Given the description of an element on the screen output the (x, y) to click on. 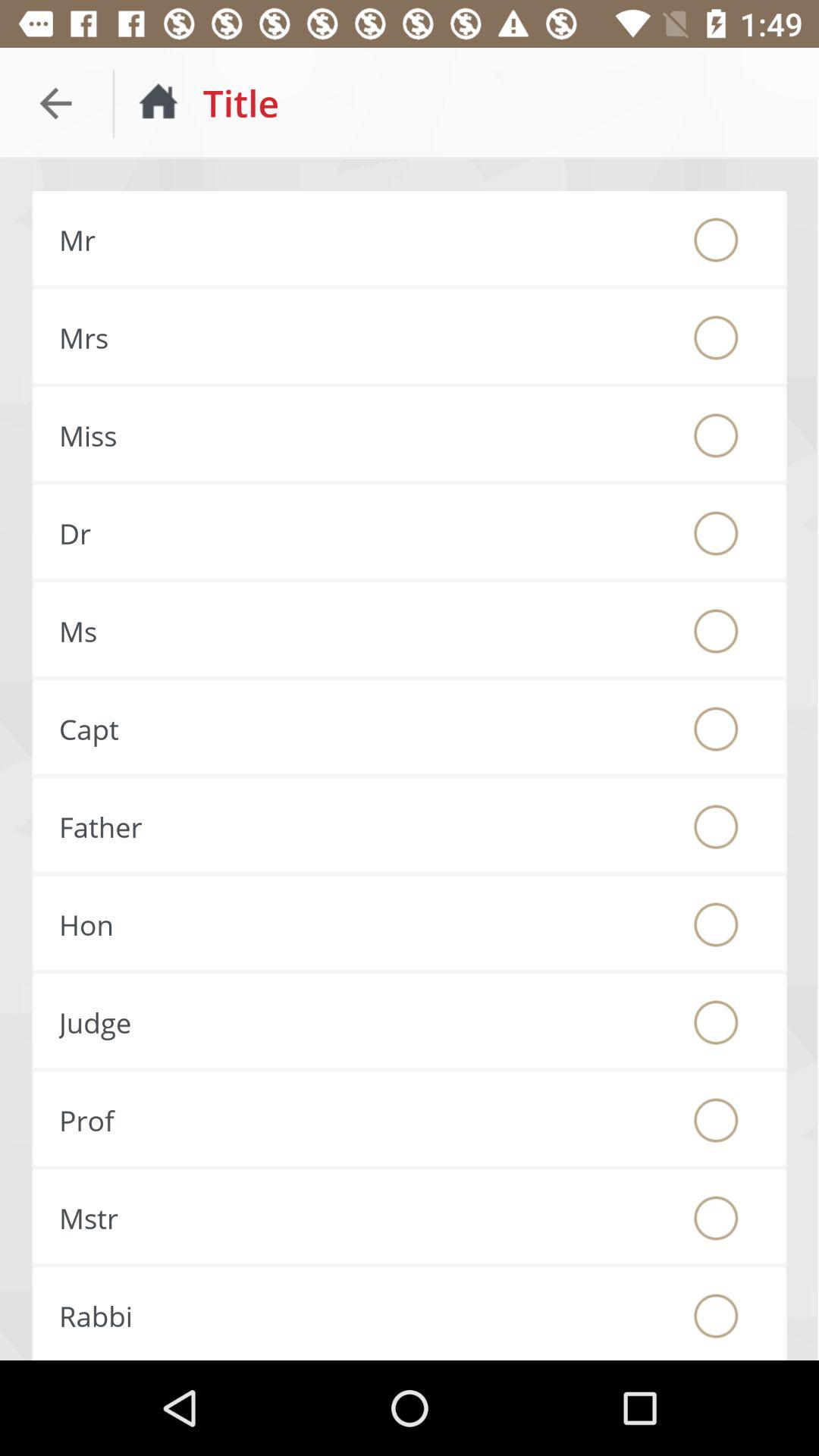
select the person (715, 826)
